Given the description of an element on the screen output the (x, y) to click on. 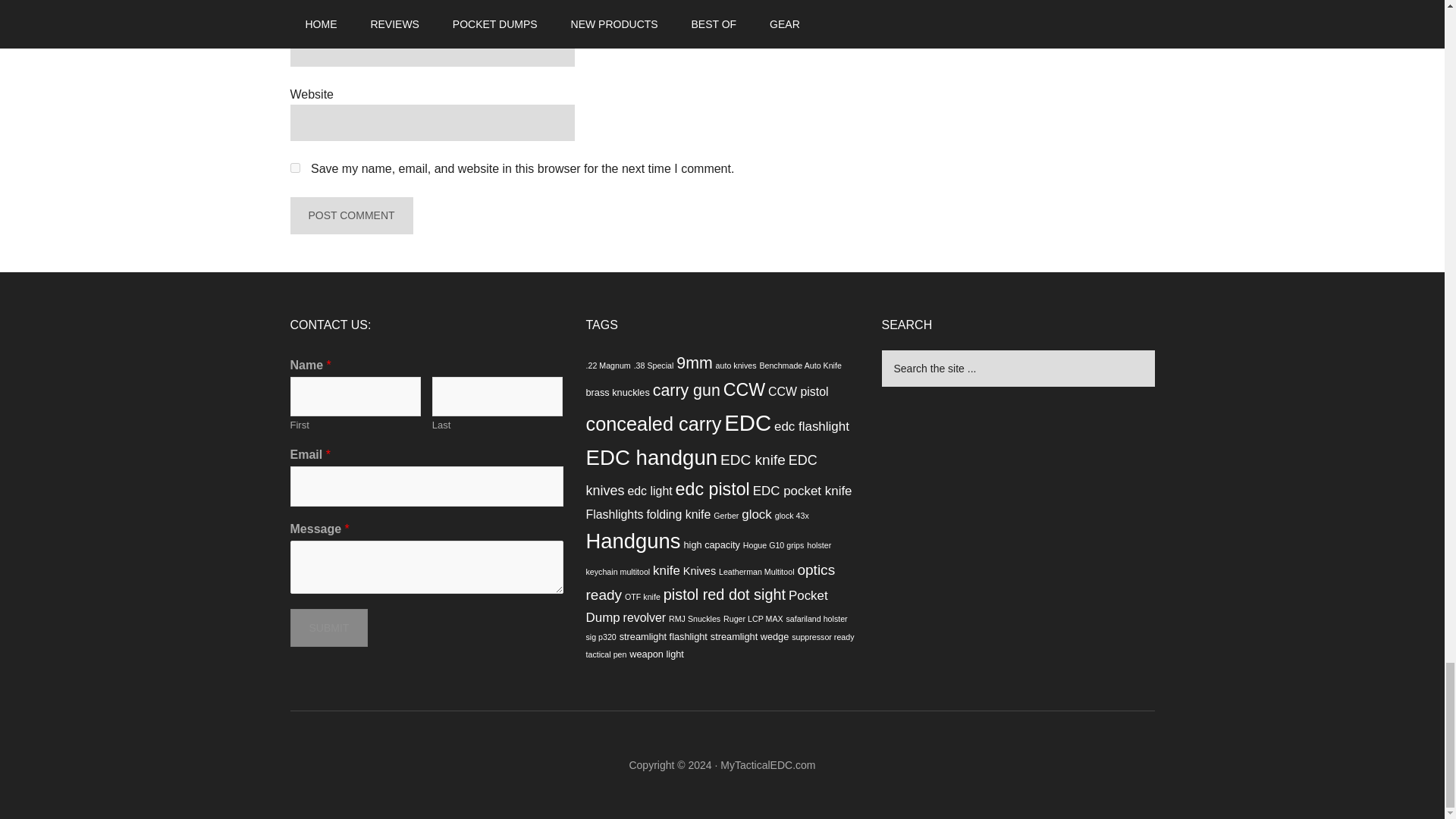
yes (294, 167)
Post Comment (350, 215)
Post Comment (350, 215)
